Given the description of an element on the screen output the (x, y) to click on. 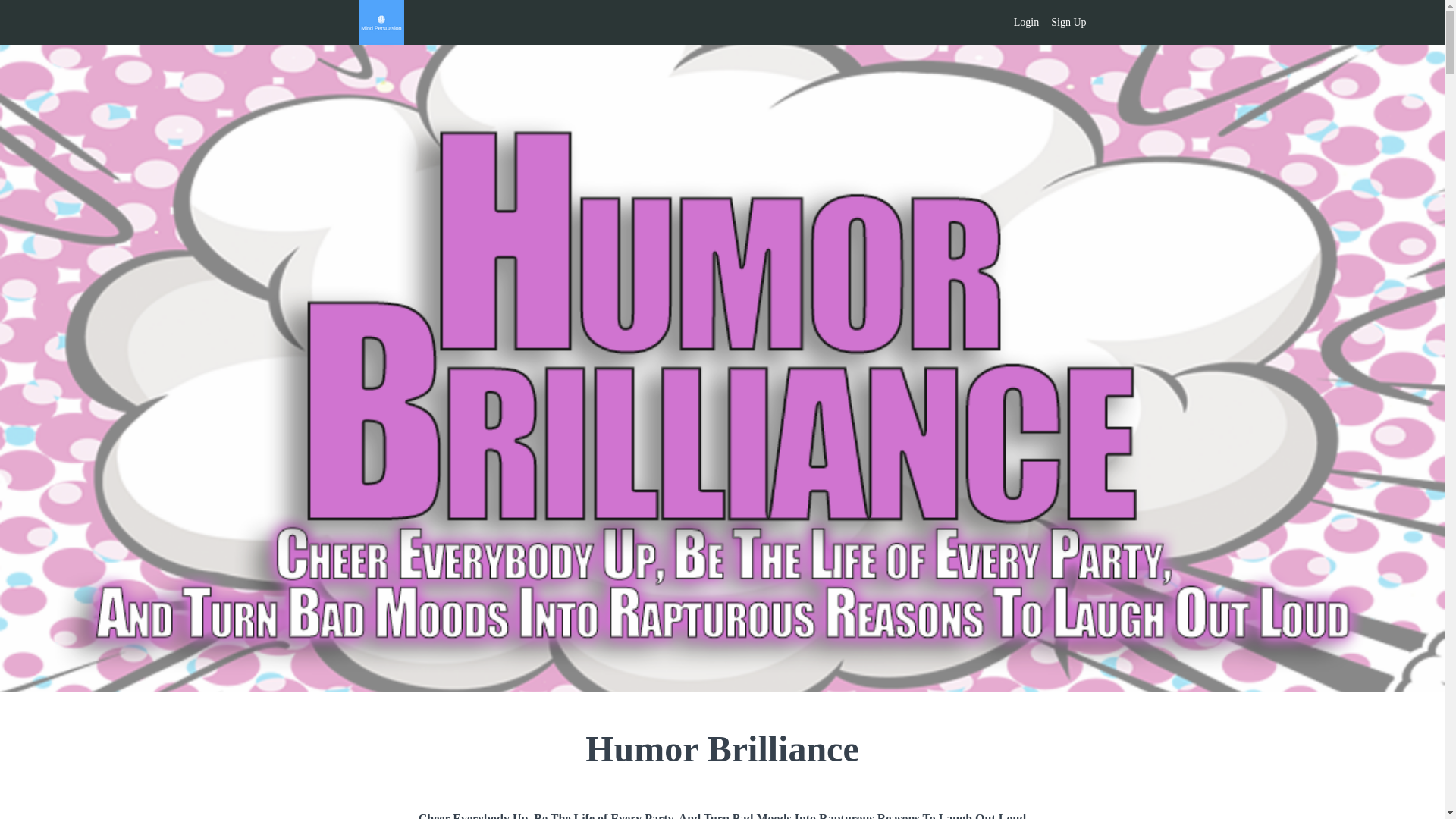
Sign Up (1068, 22)
Login (1026, 22)
